Given the description of an element on the screen output the (x, y) to click on. 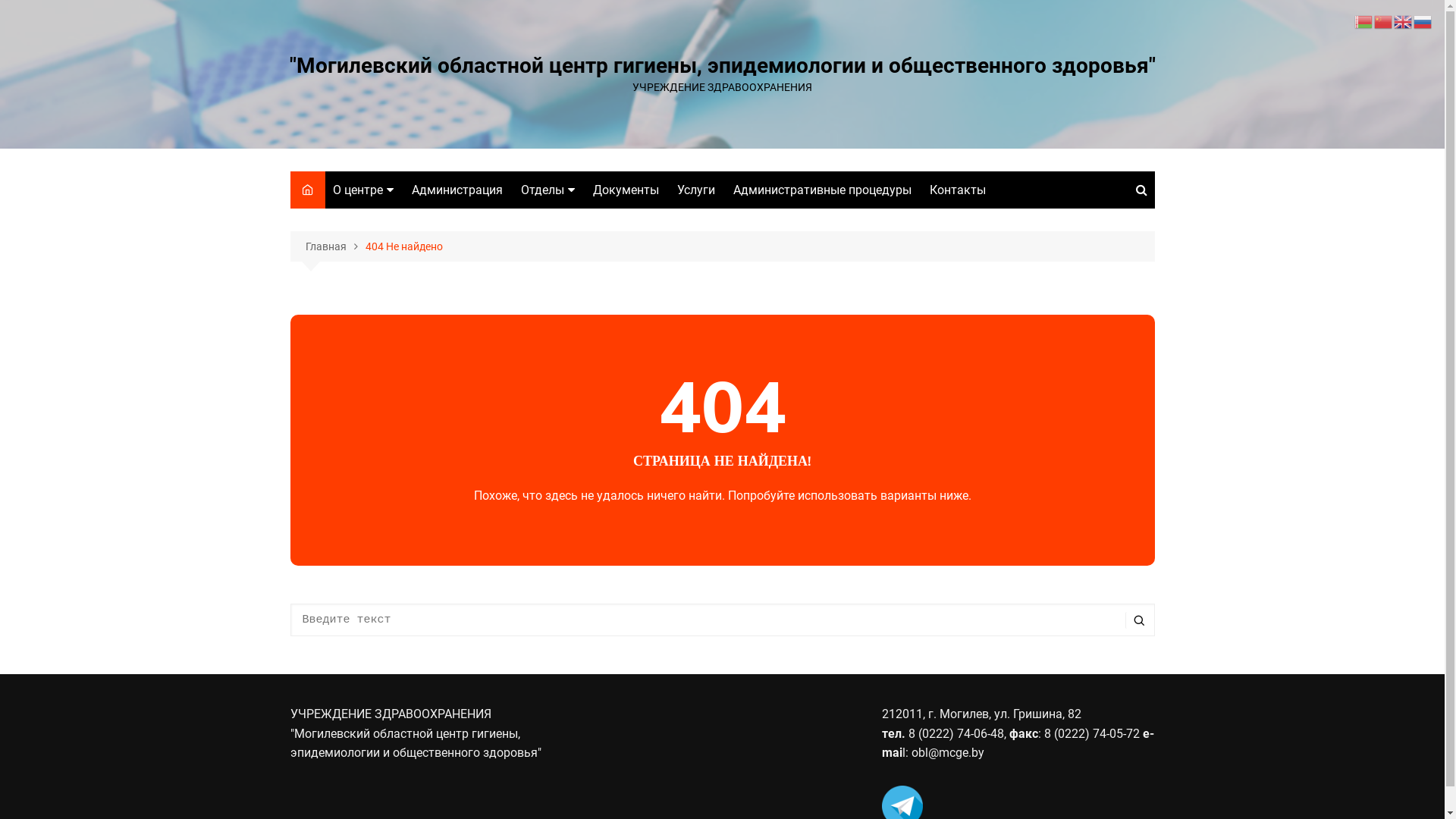
English Element type: hover (1403, 20)
Russian Element type: hover (1423, 20)
Belarusian Element type: hover (1364, 20)
obl@mcge.by Element type: text (947, 752)
Chinese (Simplified) Element type: hover (1383, 20)
8 (0222) 74-06-48 Element type: text (954, 733)
